Given the description of an element on the screen output the (x, y) to click on. 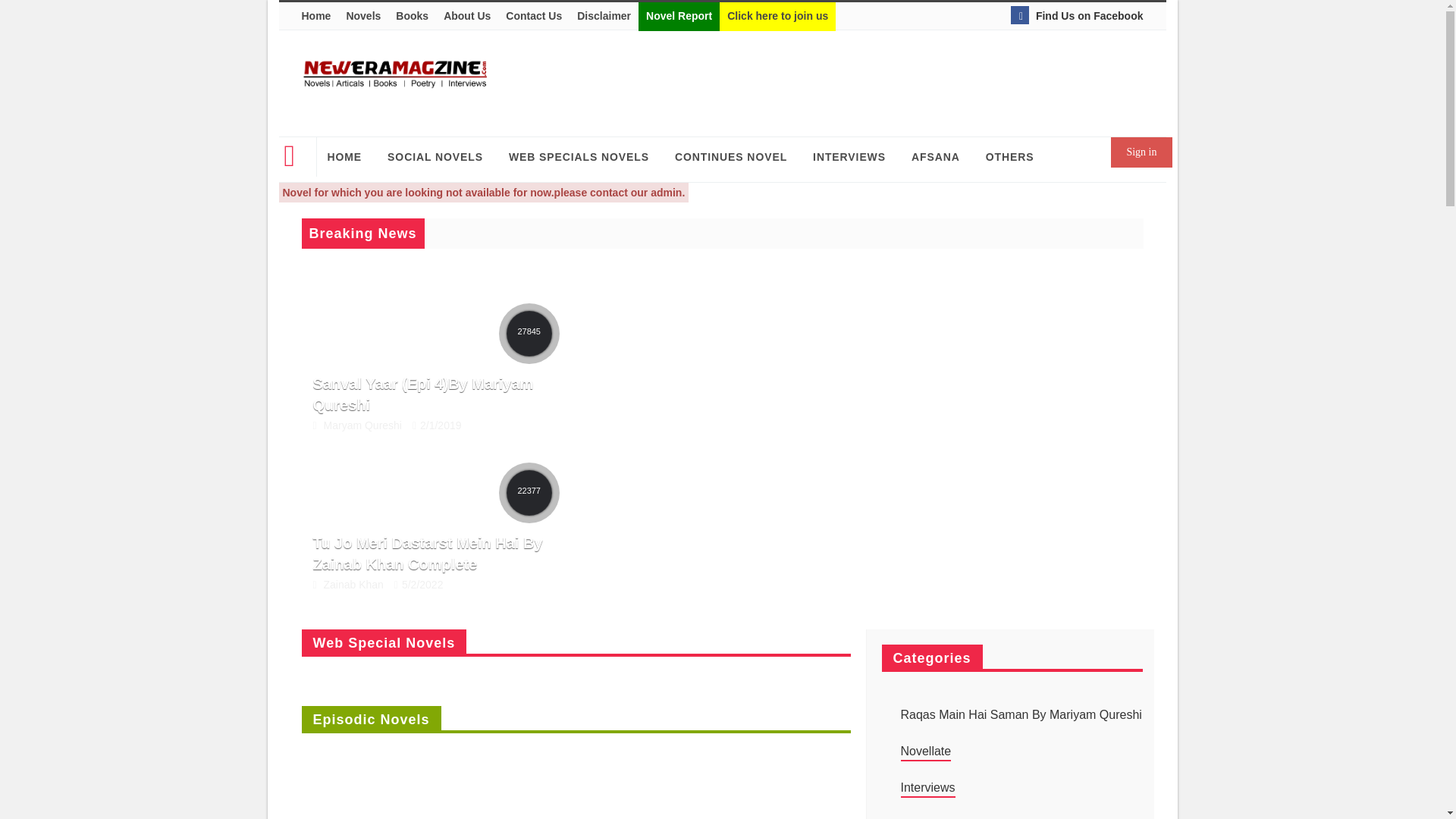
Twitter (1076, 15)
INTERVIEWS (851, 156)
Click here to join us (777, 16)
OTHERS (1012, 156)
Sign in (1141, 152)
WEB SPECIALS NOVELS (580, 156)
Contact Us (533, 16)
Sign in (1141, 152)
Novel Report (679, 16)
Find Us on Facebook (1076, 15)
